Given the description of an element on the screen output the (x, y) to click on. 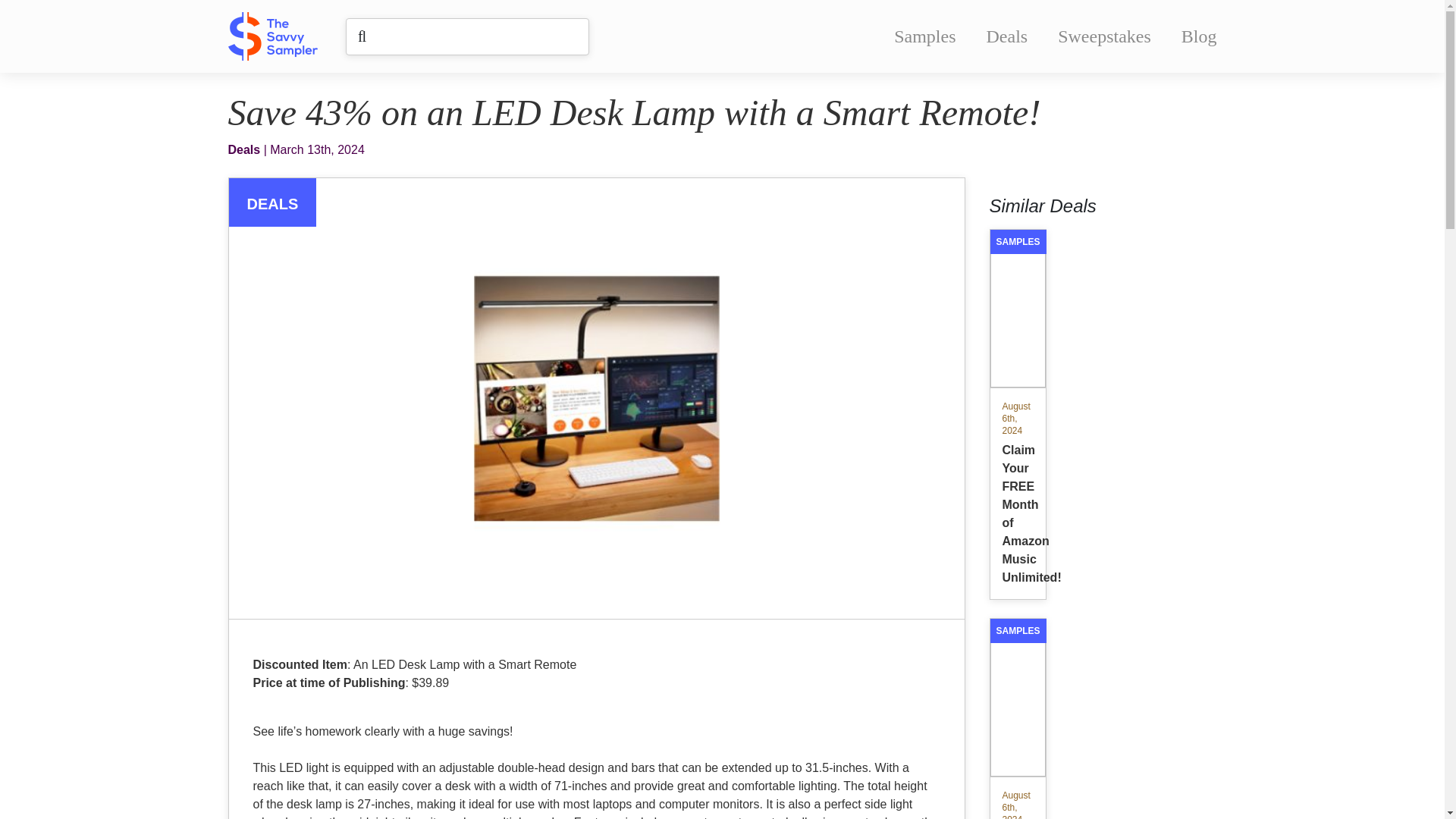
Sweepstakes (1104, 35)
Blog (1198, 35)
Samples (924, 35)
Deals (1007, 35)
